Given the description of an element on the screen output the (x, y) to click on. 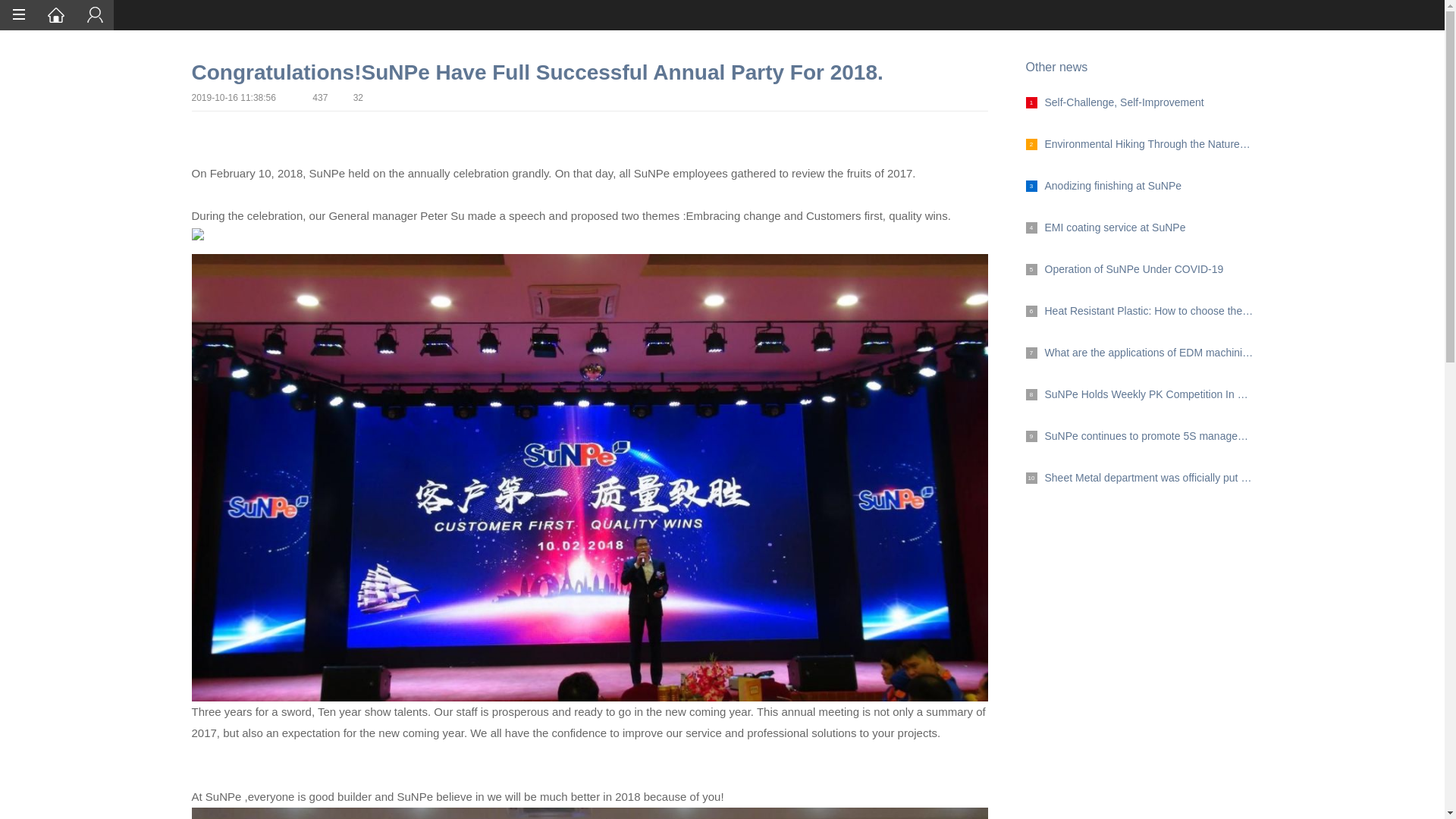
Home (56, 15)
What are the applications of EDM machining at SuNPe? (1138, 436)
Self-Challenge, Self-Improvement (1138, 477)
SuNPe Holds Weekly PK Competition In Production Workshop (1138, 394)
Operation of SuNPe Under COVID-19 (1138, 352)
